Given the description of an element on the screen output the (x, y) to click on. 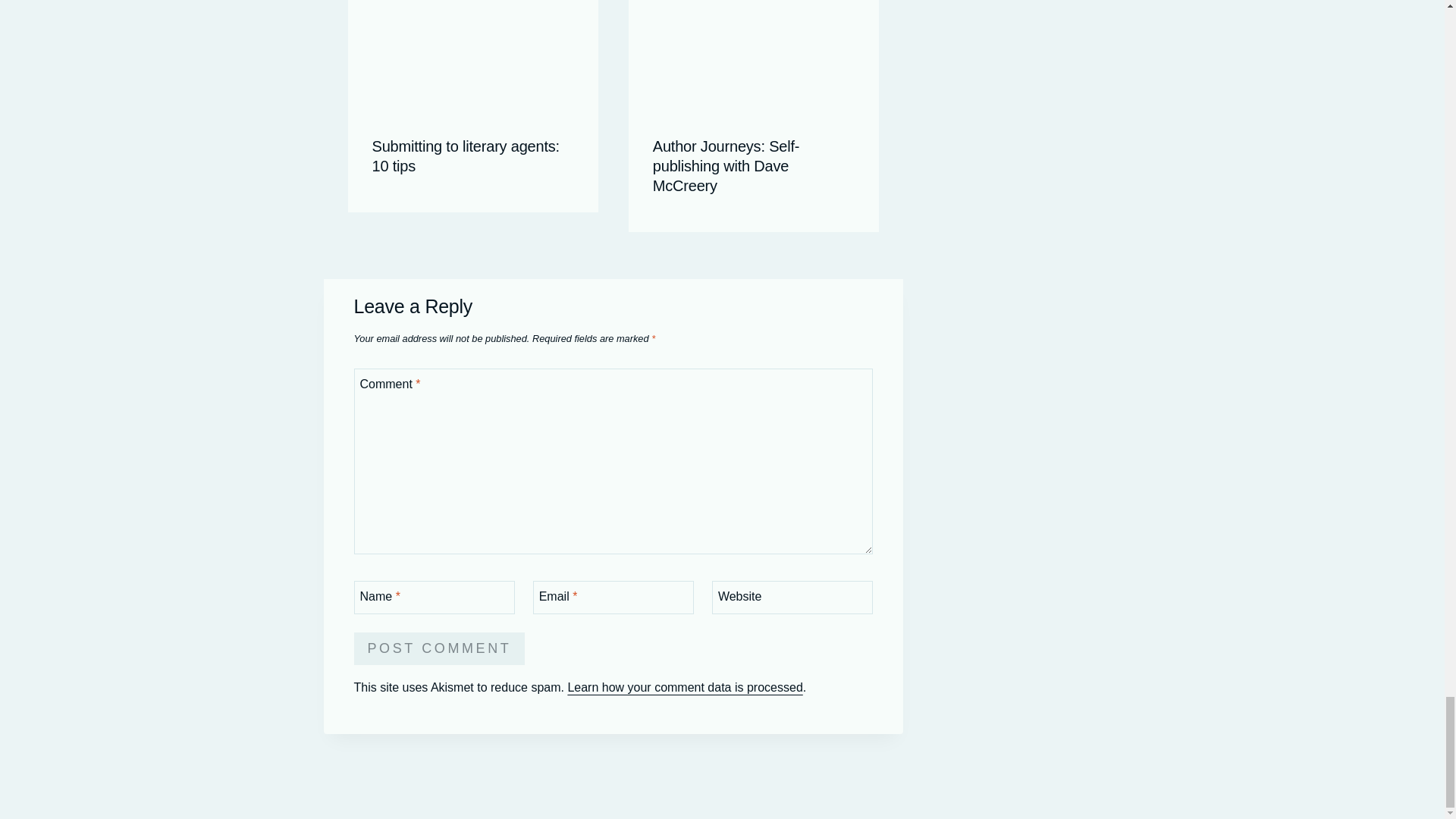
Post Comment (438, 648)
